Given the description of an element on the screen output the (x, y) to click on. 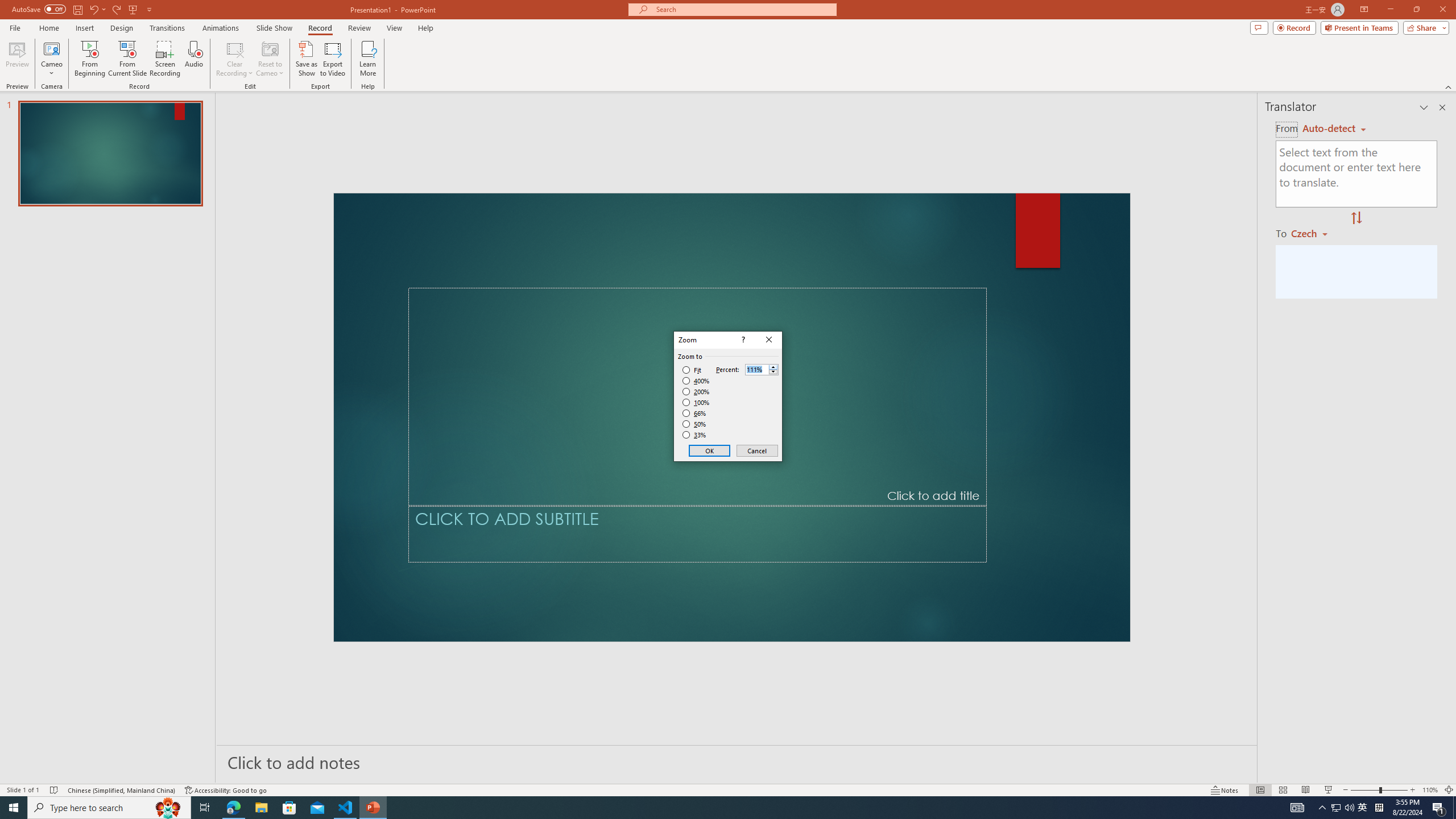
Record (775, 71)
Labels... (132, 92)
Address Block... (430, 92)
Zoom Out (1350, 773)
Insert Merge Field (526, 92)
Spelling and Grammar Check No Errors (122, 773)
Customize Quick Access Toolbar (218, 18)
Can't Repeat (193, 18)
AutomationID: BadgeAnchorLargeTicker (26, 800)
Start Mail Merge (186, 92)
View (618, 47)
Edit Recipient List... (302, 92)
Word Count 2 words (84, 773)
Ribbon Display Options (1436, 124)
